Given the description of an element on the screen output the (x, y) to click on. 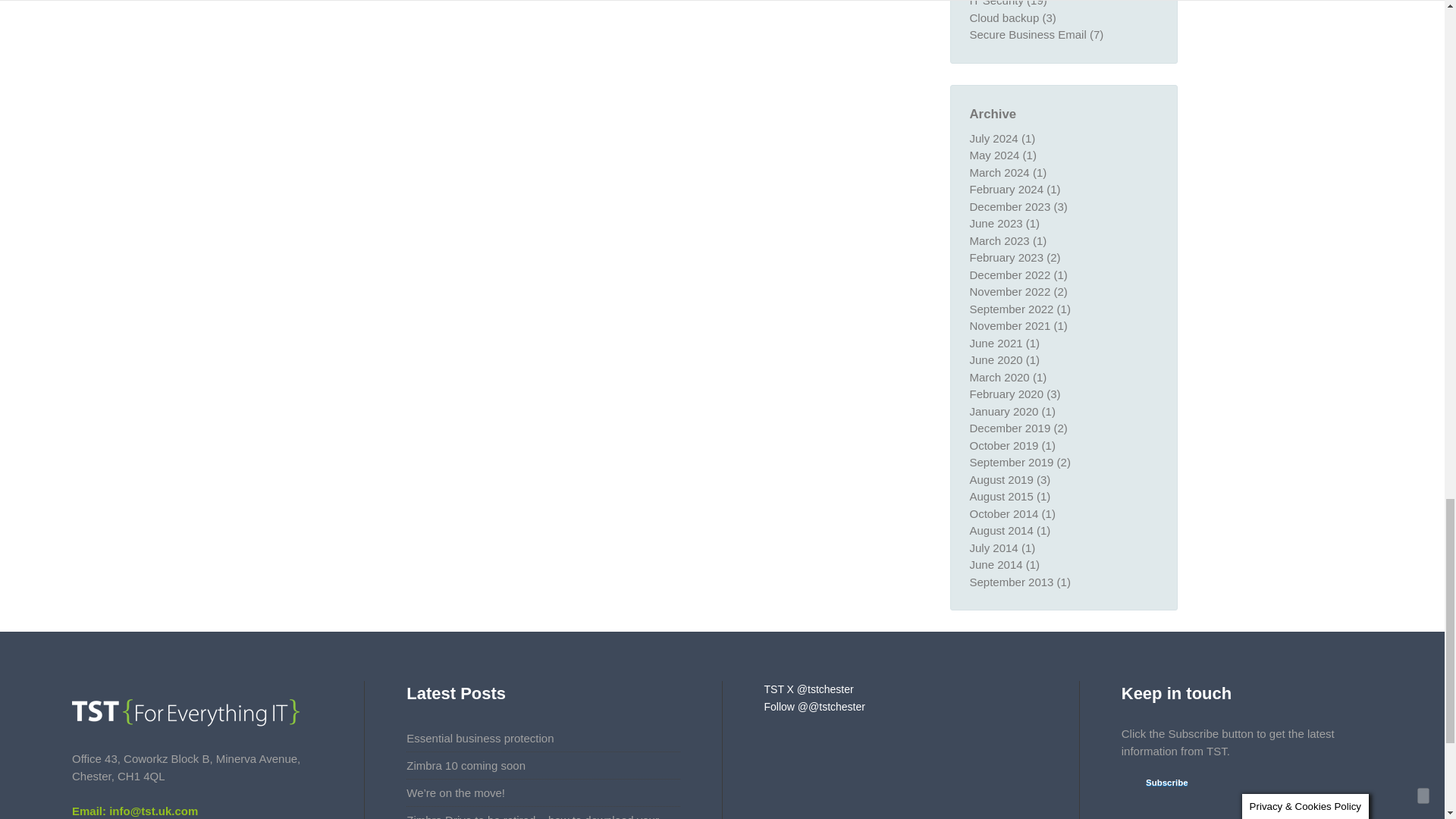
Preview (1157, 782)
